Given the description of an element on the screen output the (x, y) to click on. 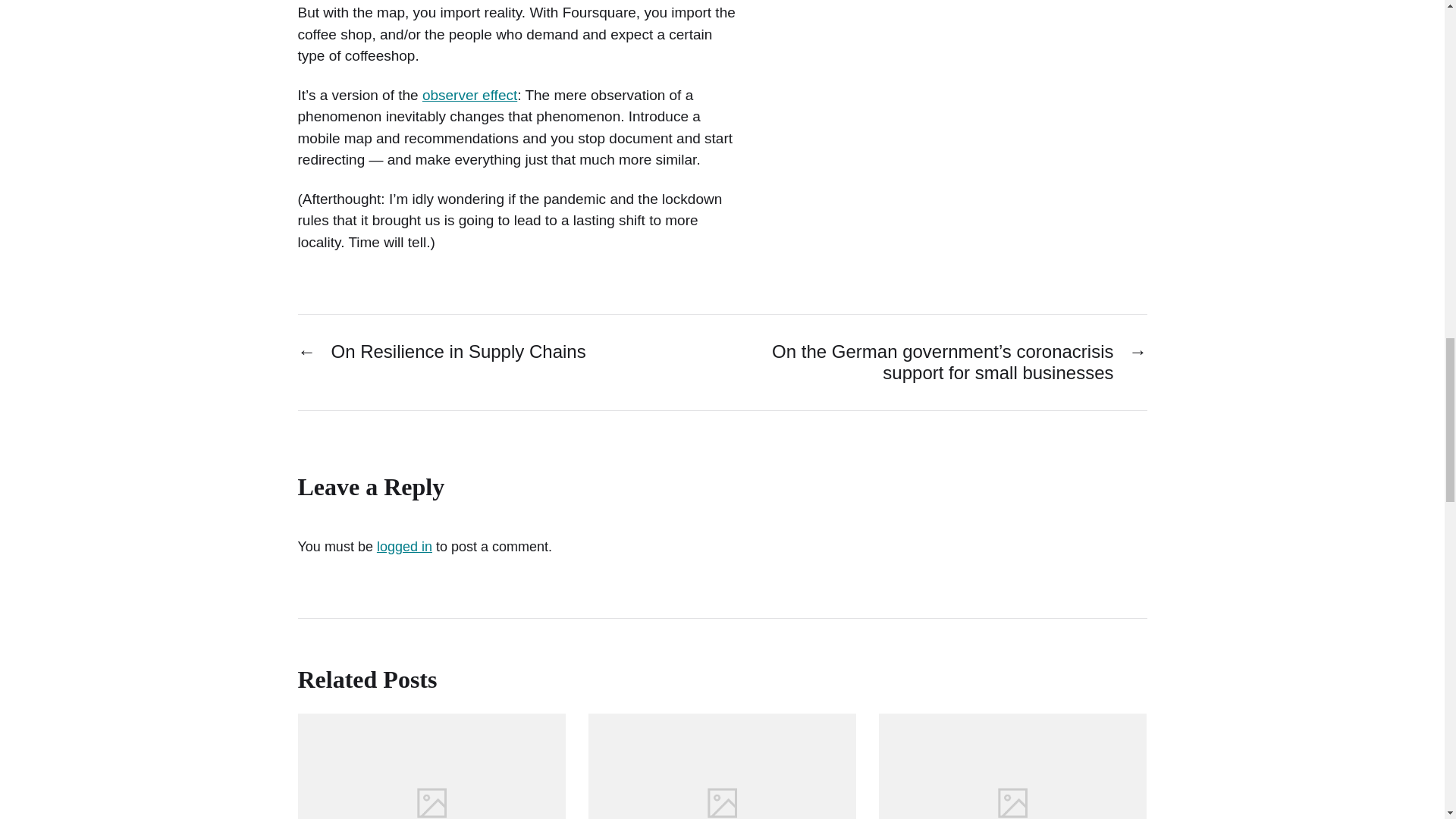
observer effect (469, 94)
logged in (404, 546)
